Given the description of an element on the screen output the (x, y) to click on. 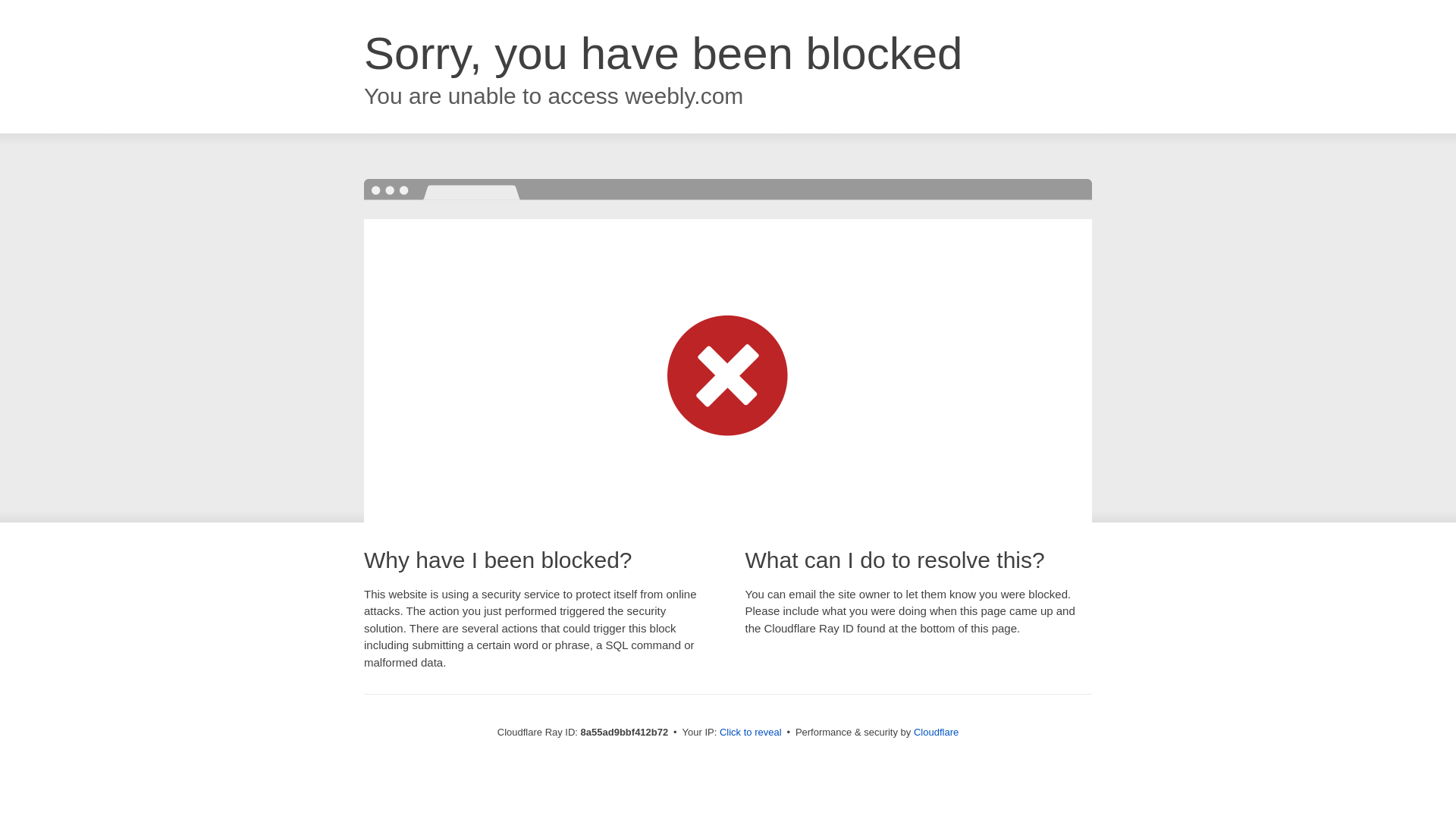
Click to reveal (750, 732)
Cloudflare (936, 731)
